Given the description of an element on the screen output the (x, y) to click on. 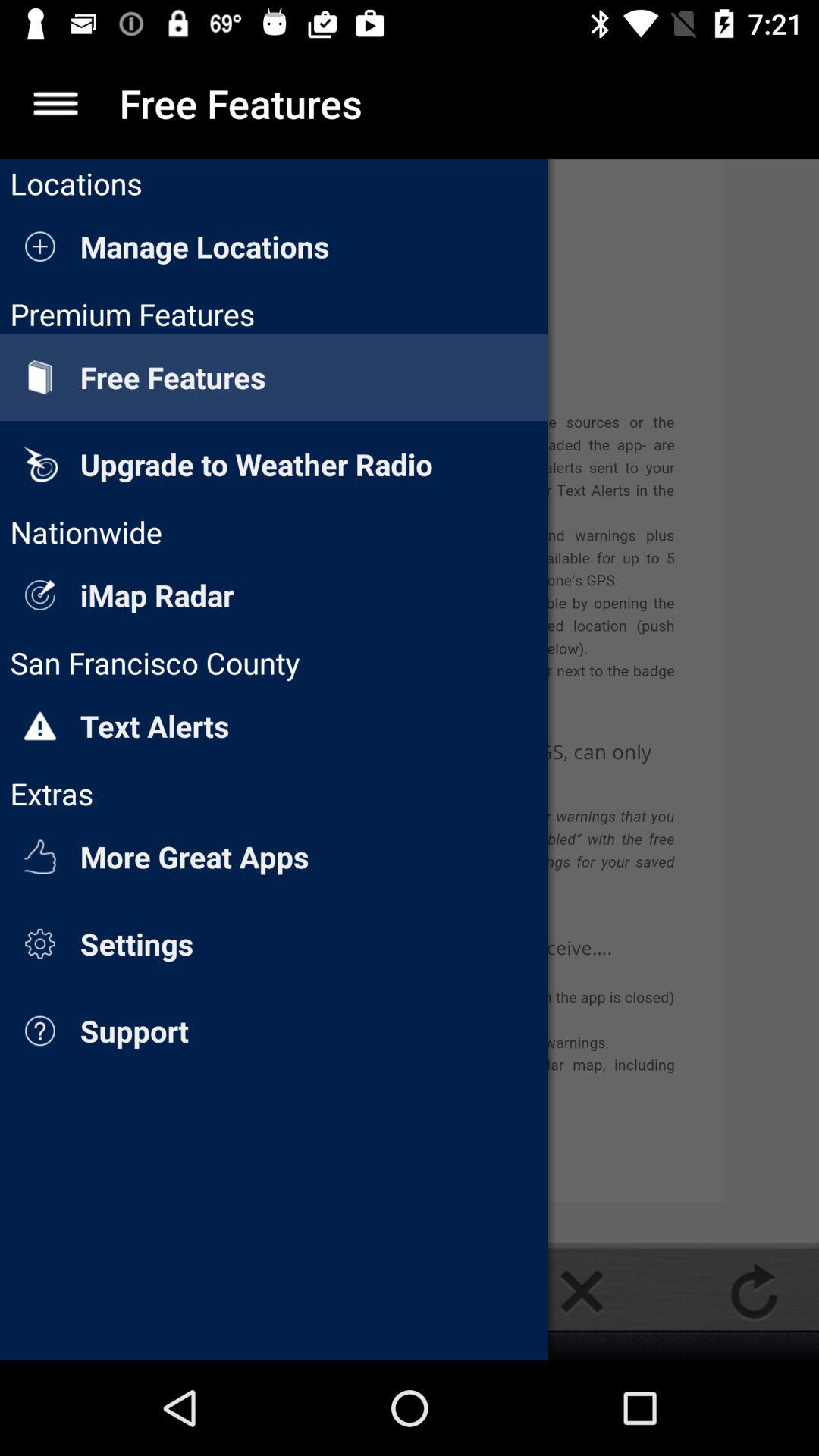
press reload button (754, 1291)
